Given the description of an element on the screen output the (x, y) to click on. 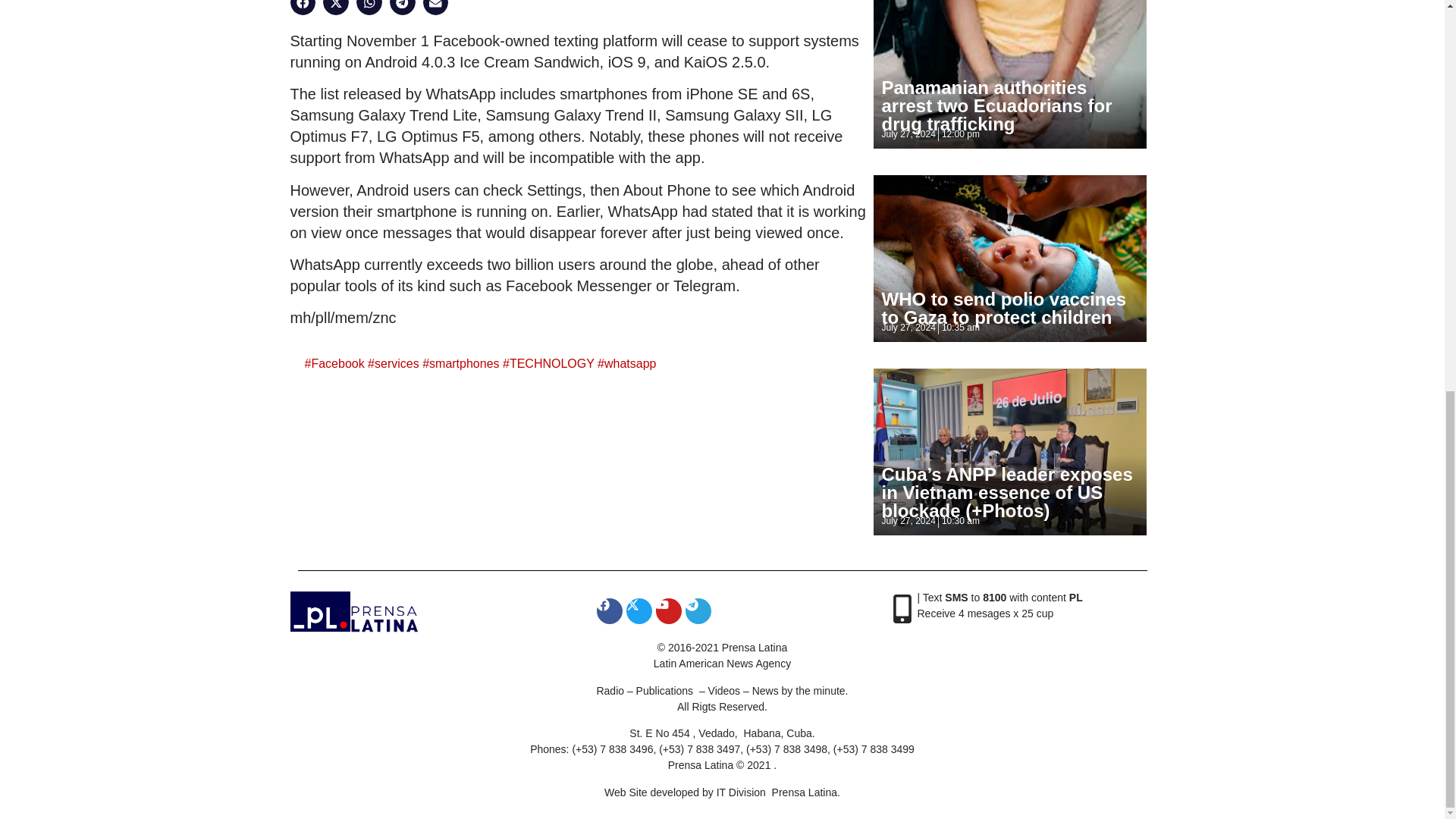
July 27, 2024 (907, 133)
TECHNOLOGY (551, 363)
services (396, 363)
Facebook (337, 363)
whatsapp (630, 363)
smartphones (464, 363)
